Given the description of an element on the screen output the (x, y) to click on. 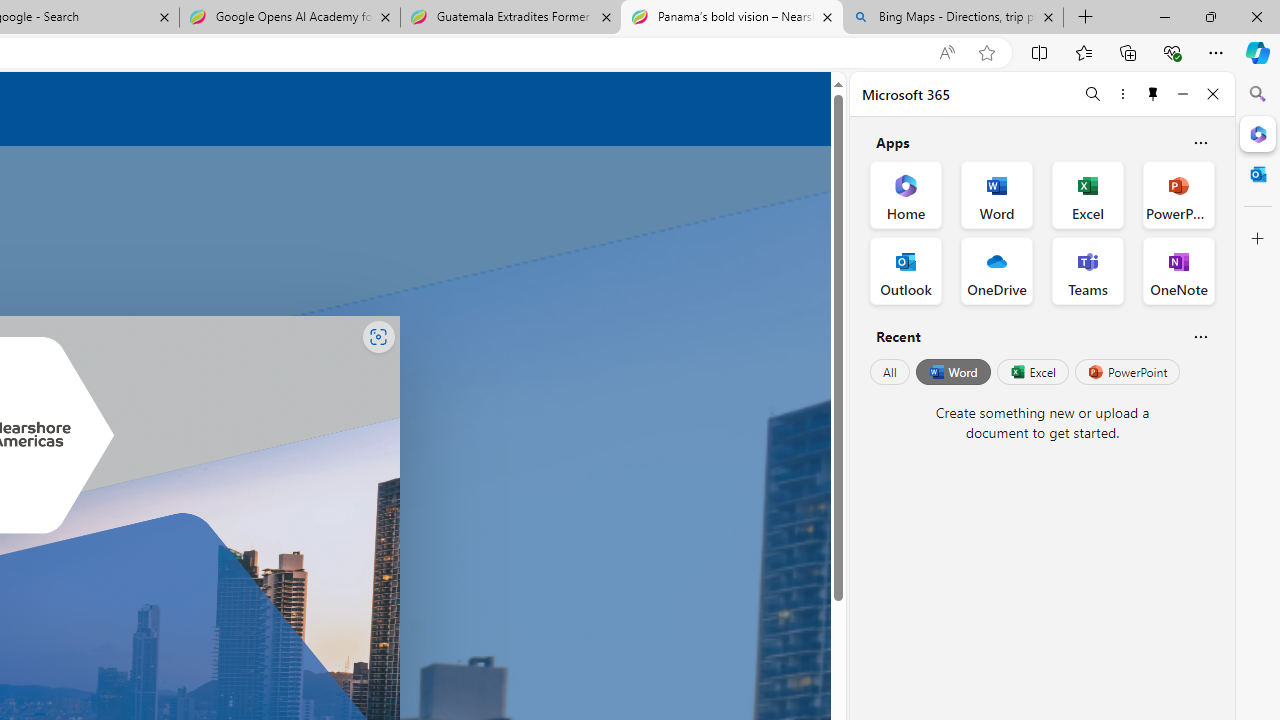
PowerPoint (1127, 372)
Excel Office App (1087, 194)
OneNote Office App (1178, 270)
Word (952, 372)
Outlook Office App (906, 270)
Excel (1031, 372)
PowerPoint Office App (1178, 194)
